Given the description of an element on the screen output the (x, y) to click on. 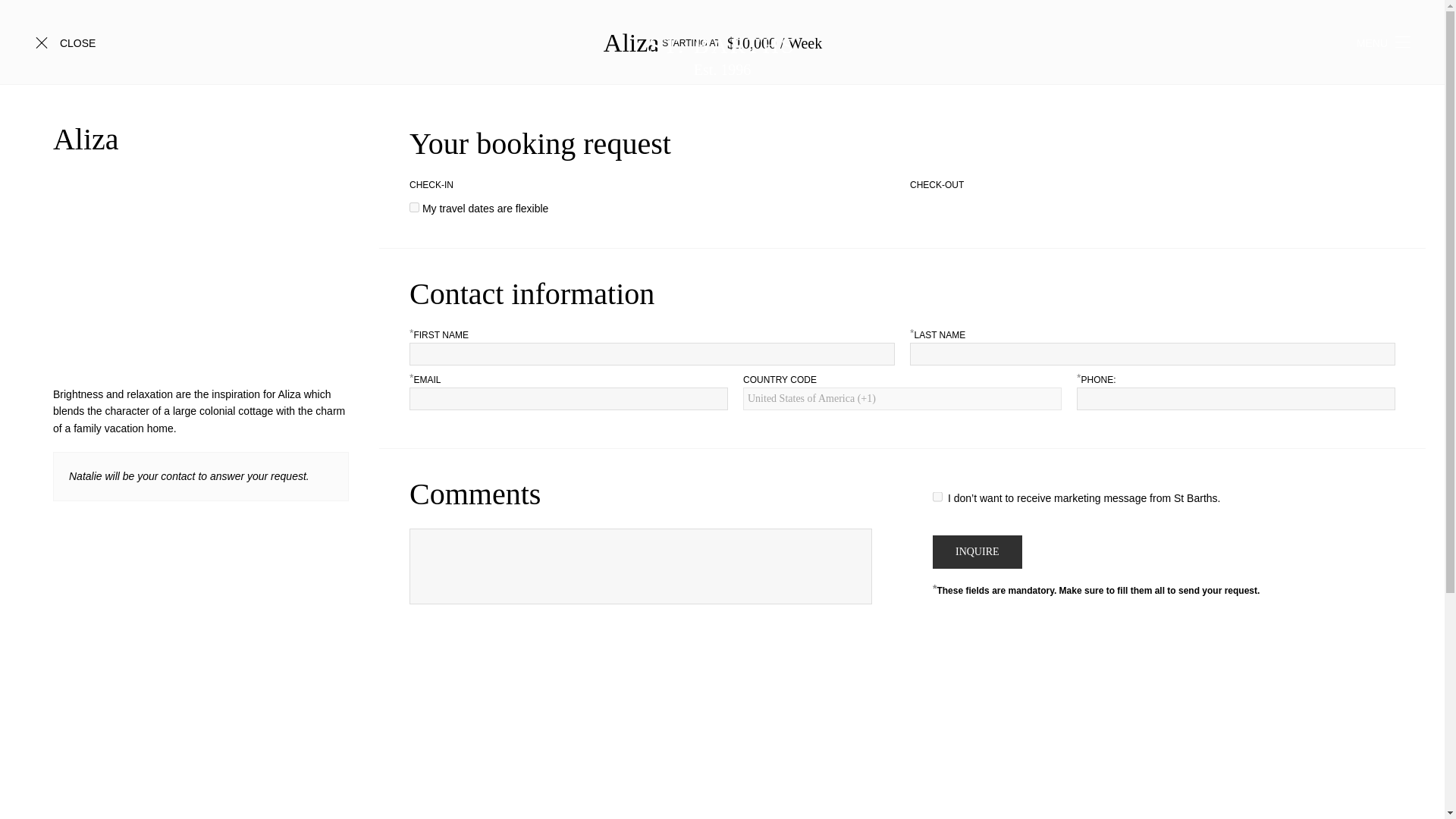
on (414, 207)
on (722, 54)
